Given the description of an element on the screen output the (x, y) to click on. 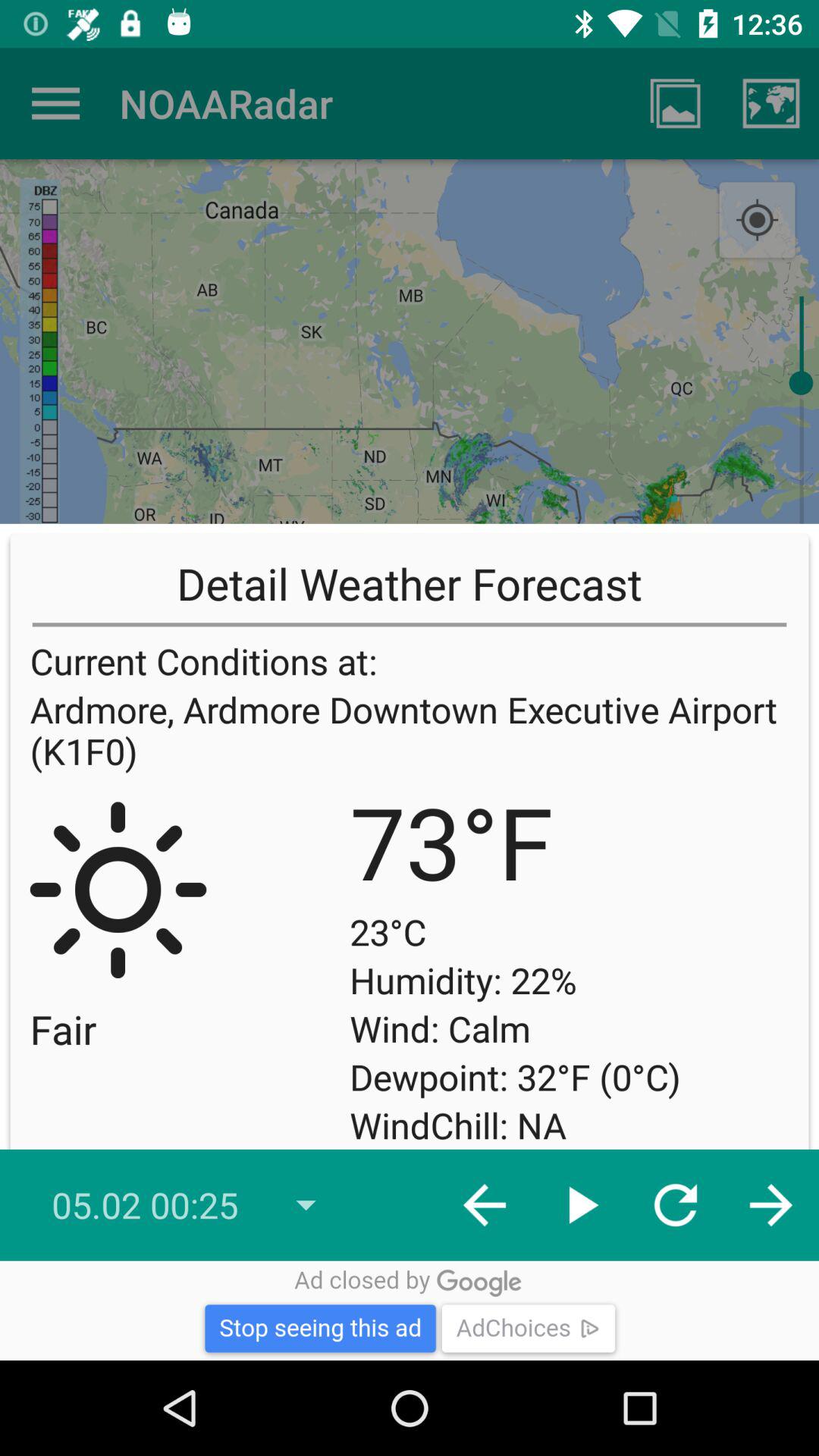
go back (55, 103)
